Given the description of an element on the screen output the (x, y) to click on. 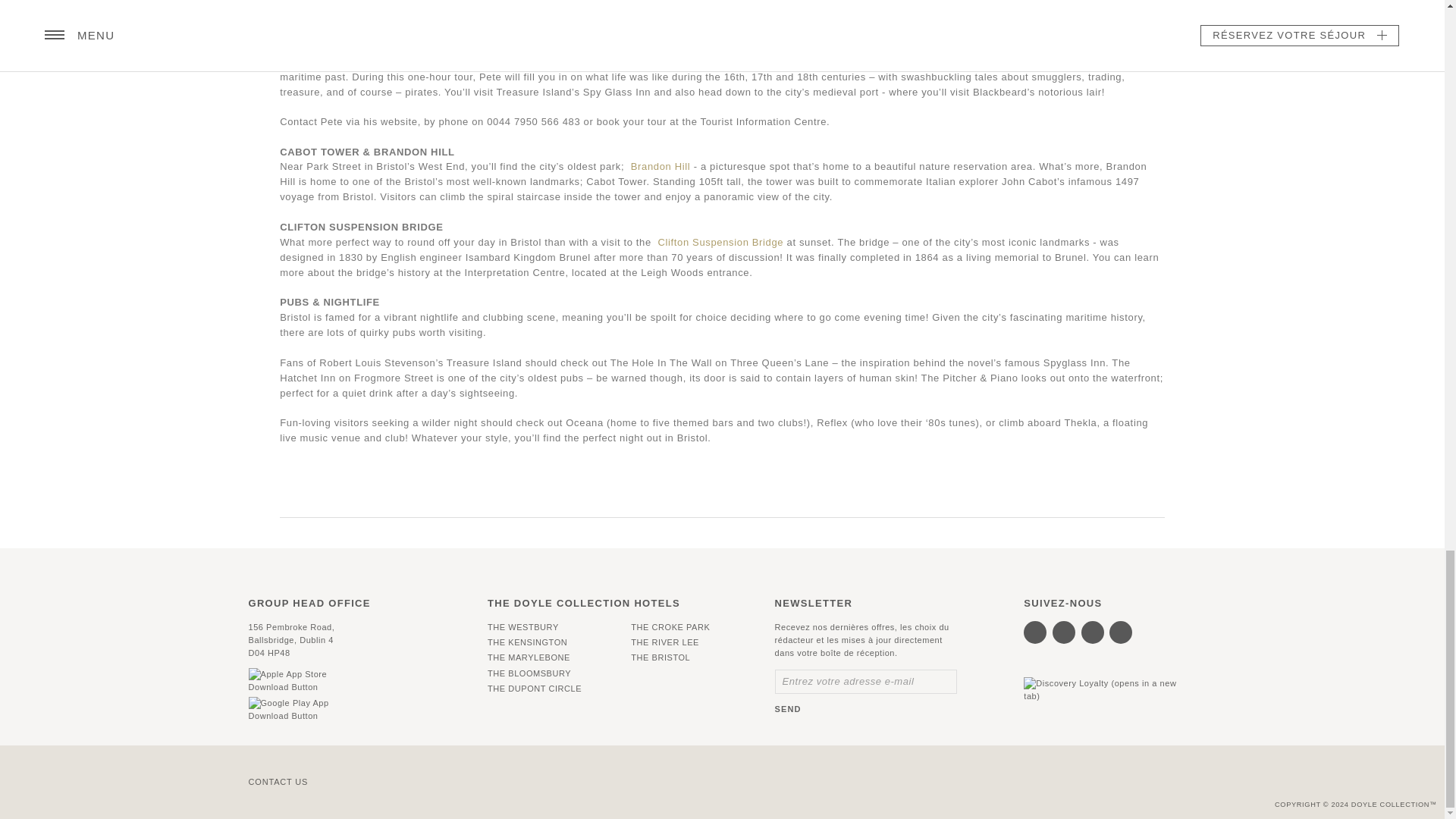
Brandon Hill (660, 165)
Clifton Suspension Bridge (720, 242)
Pirate Walks (700, 61)
